Given the description of an element on the screen output the (x, y) to click on. 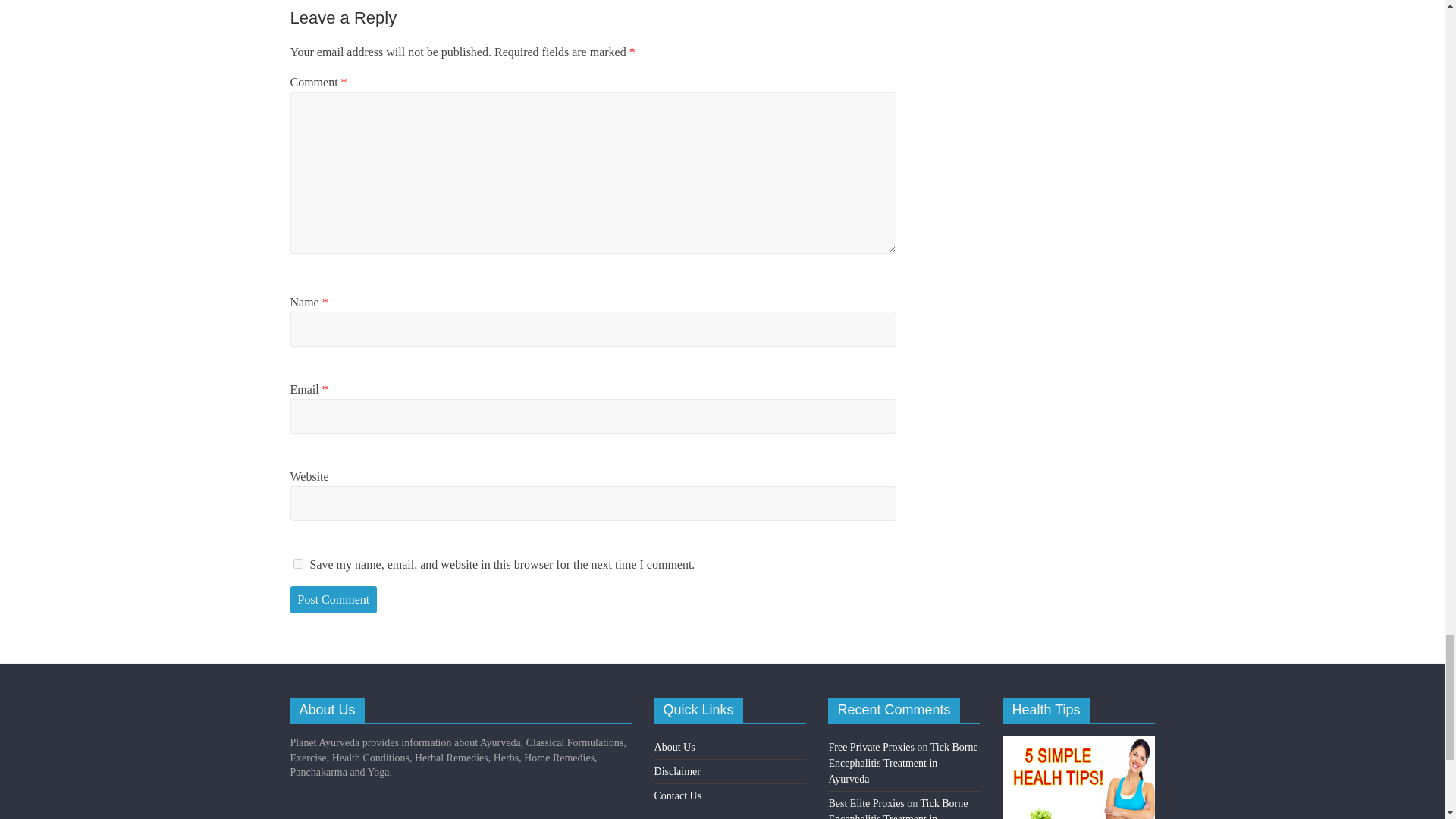
yes (297, 563)
Post Comment (333, 599)
